Given the description of an element on the screen output the (x, y) to click on. 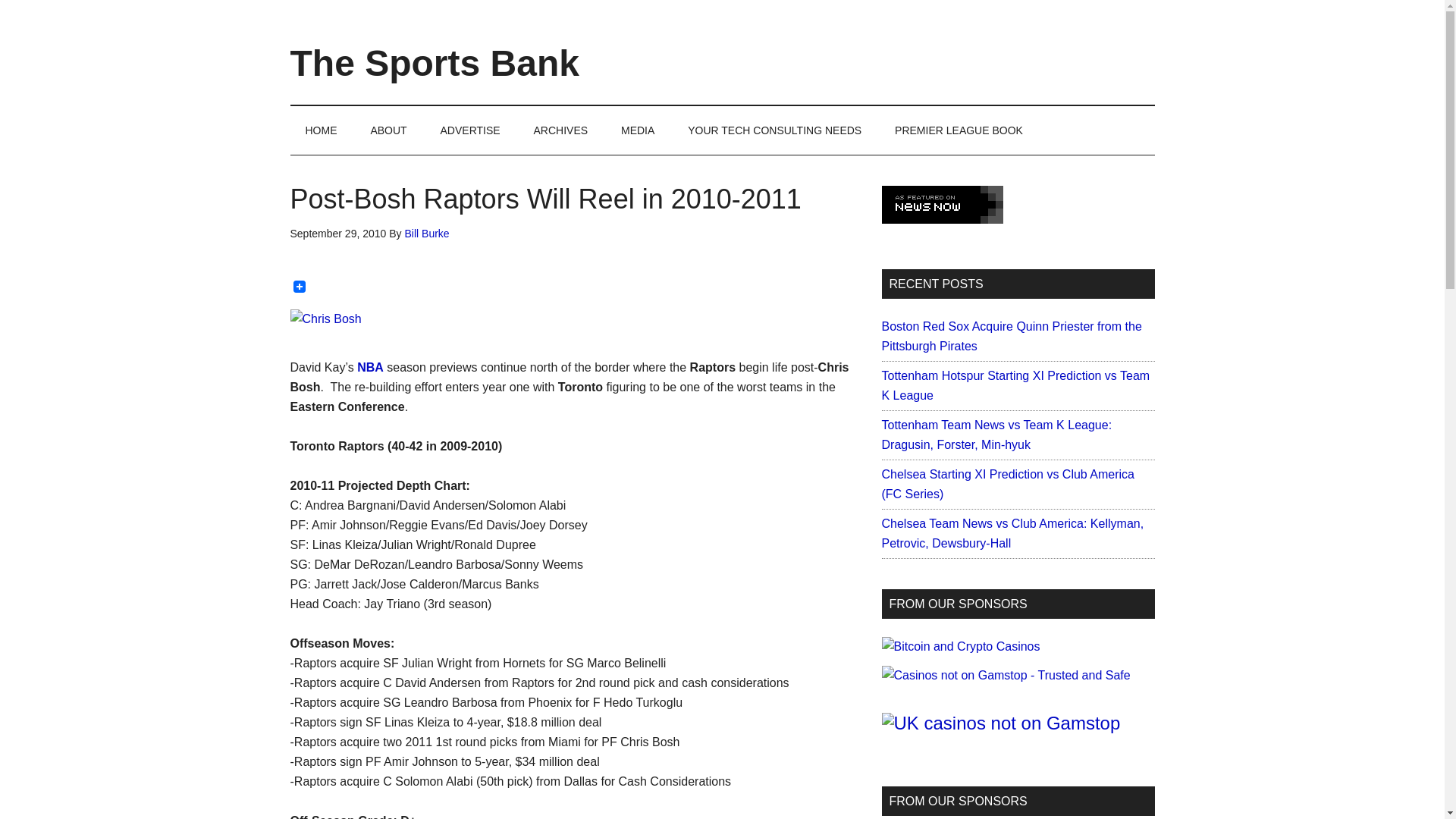
ABOUT (388, 130)
PREMIER LEAGUE BOOK (958, 130)
HOME (320, 130)
ARCHIVES (561, 130)
NBA (370, 367)
YOUR TECH CONSULTING NEEDS (774, 130)
The Sports Bank (433, 63)
ADVERTISE (470, 130)
MEDIA (637, 130)
Bill Burke (426, 233)
